Given the description of an element on the screen output the (x, y) to click on. 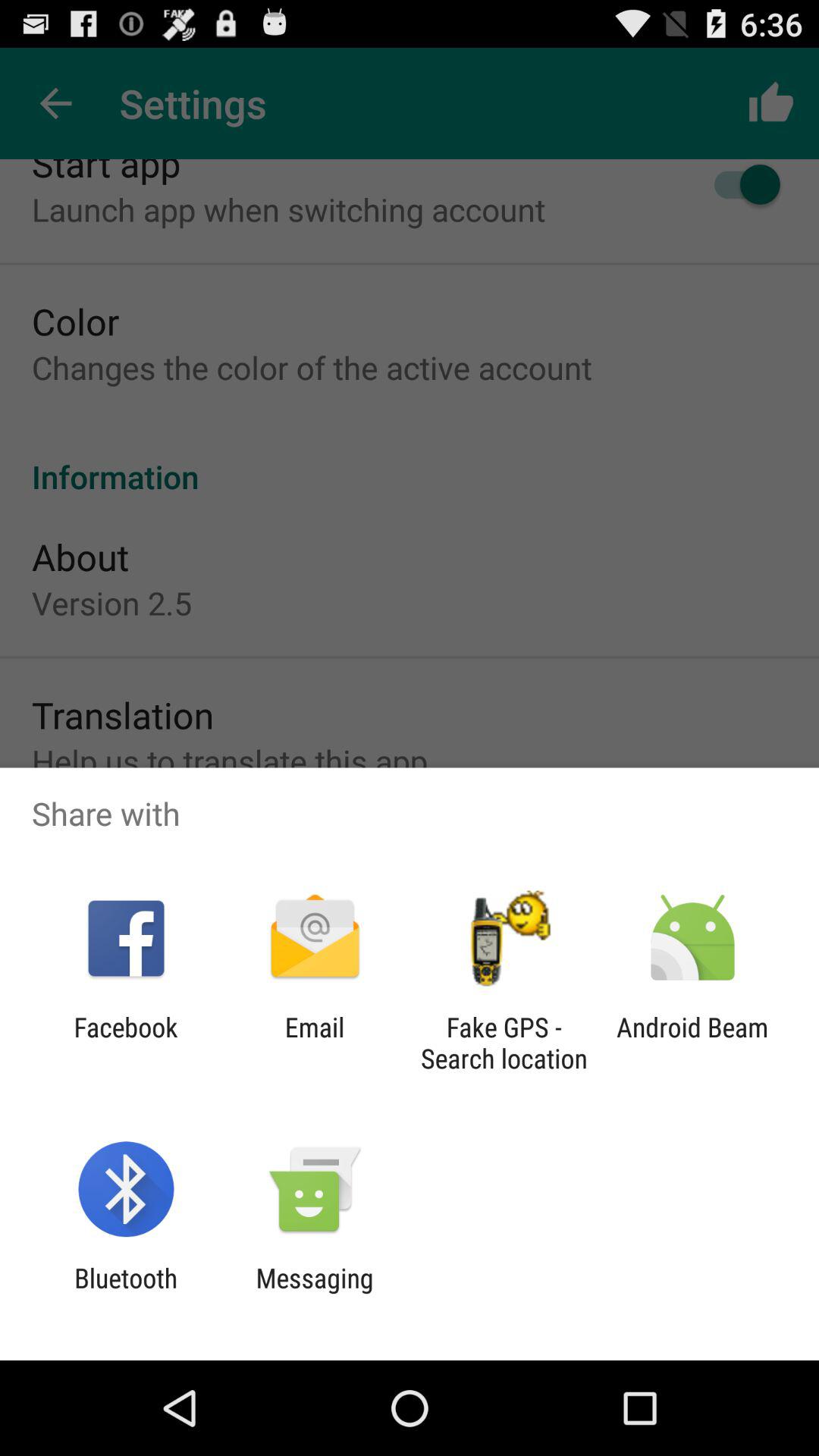
launch the icon to the left of the fake gps search app (314, 1042)
